Given the description of an element on the screen output the (x, y) to click on. 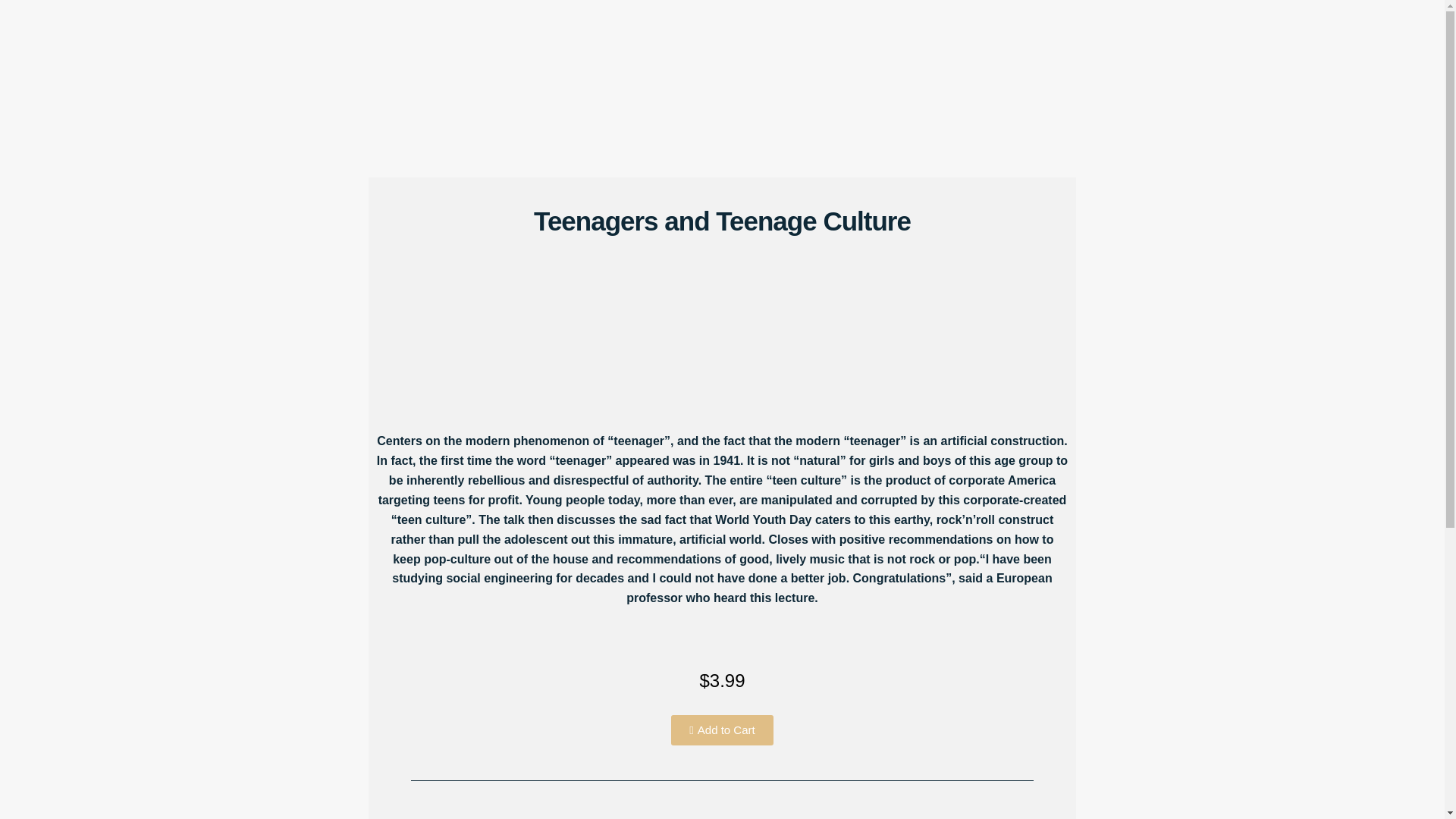
Add to Cart (722, 729)
